Given the description of an element on the screen output the (x, y) to click on. 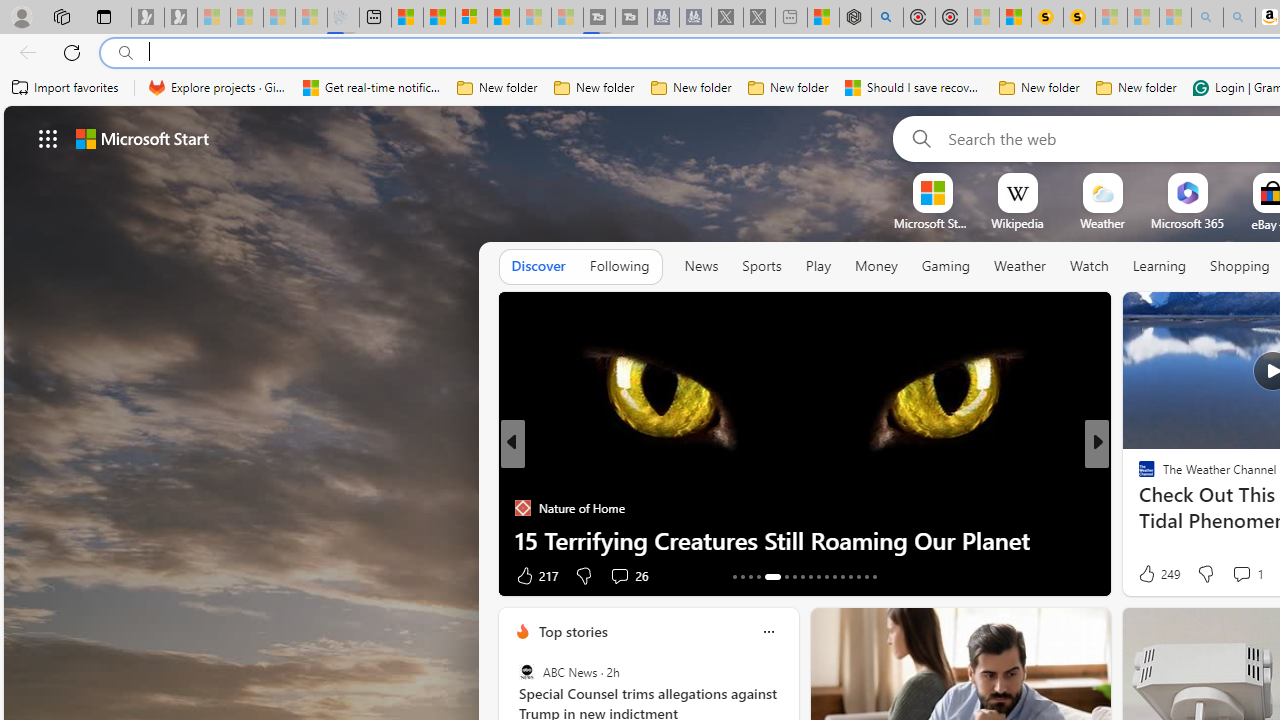
206 Like (1151, 574)
View comments 26 Comment (619, 575)
AutomationID: tab-20 (801, 576)
117 Like (1151, 574)
View comments 192 Comment (1247, 574)
CBS News (1138, 475)
